Given the description of an element on the screen output the (x, y) to click on. 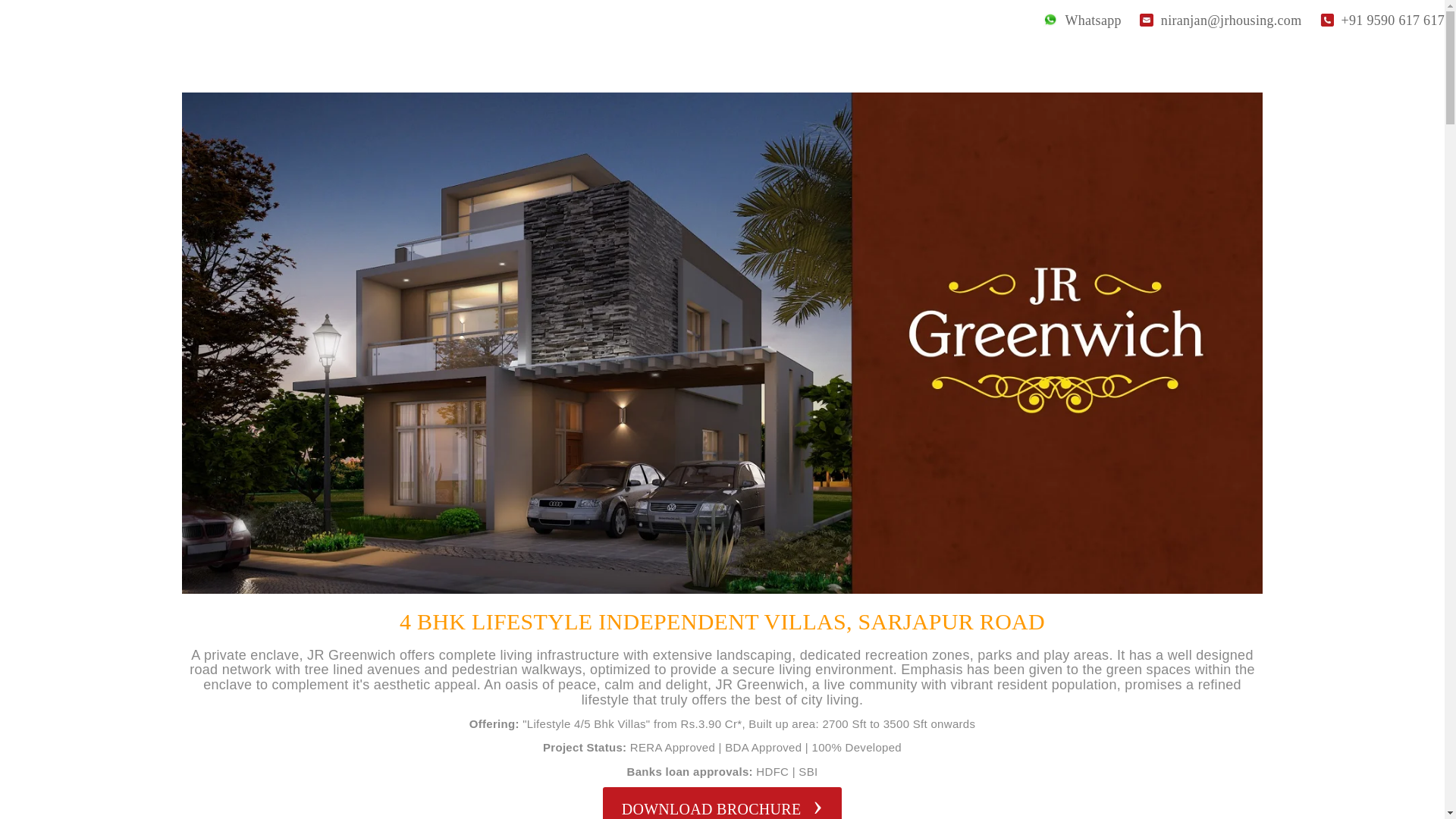
Whatsapp (1082, 20)
